Given the description of an element on the screen output the (x, y) to click on. 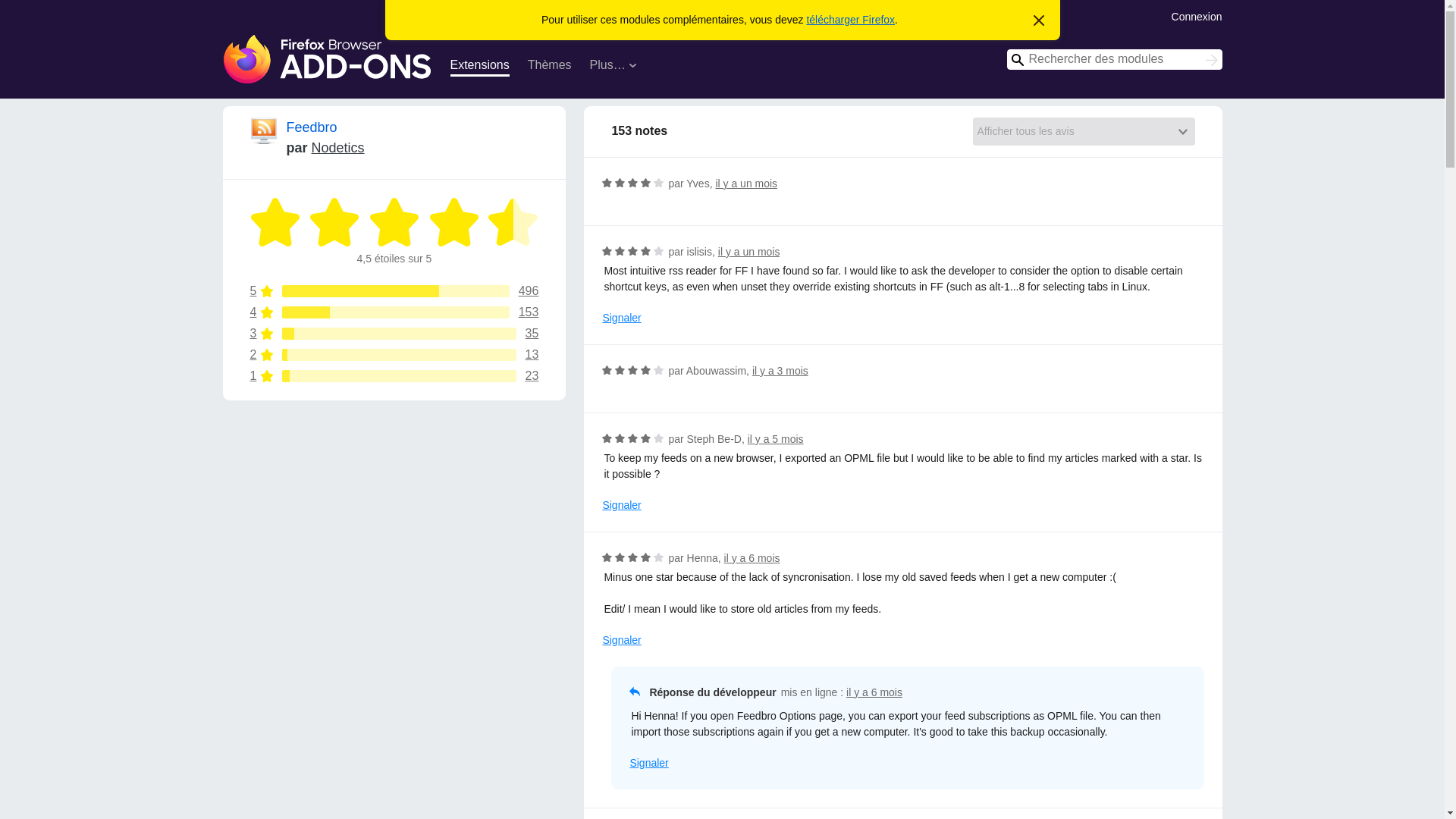
Signaler (621, 317)
Cacher ce message (1038, 21)
Modules pour le navigateur Firefox (394, 312)
Connexion (394, 333)
il y a 6 mois (327, 59)
Signaler (1197, 14)
il y a 5 mois (873, 692)
il y a un mois (621, 505)
